Given the description of an element on the screen output the (x, y) to click on. 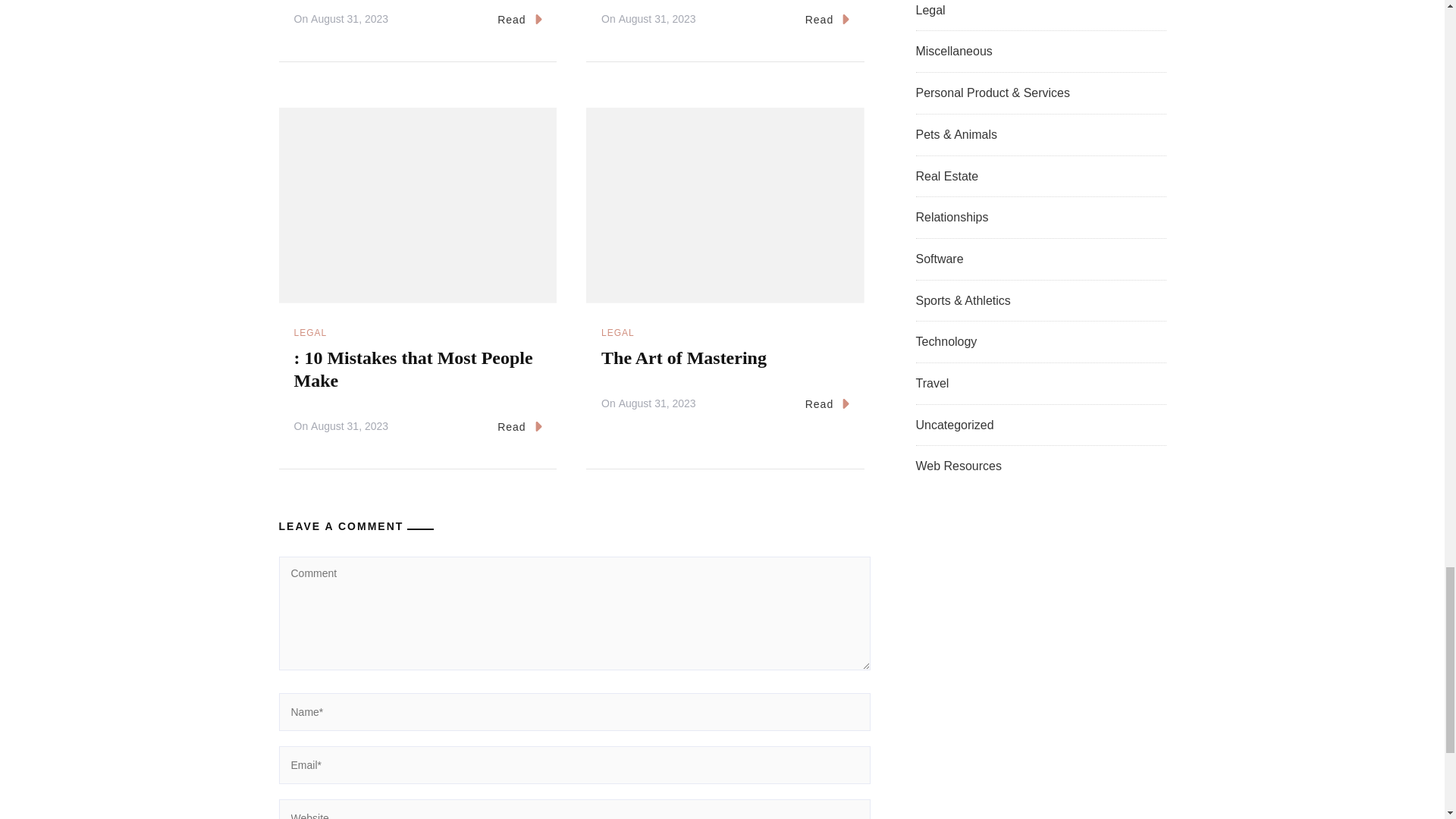
August 31, 2023 (656, 404)
LEGAL (310, 333)
August 31, 2023 (656, 19)
Read (826, 404)
August 31, 2023 (349, 426)
Read (826, 20)
August 31, 2023 (349, 19)
Read (519, 427)
Read (519, 20)
LEGAL (617, 333)
: 10 Mistakes that Most People Make (413, 369)
The Art of Mastering (684, 357)
